Given the description of an element on the screen output the (x, y) to click on. 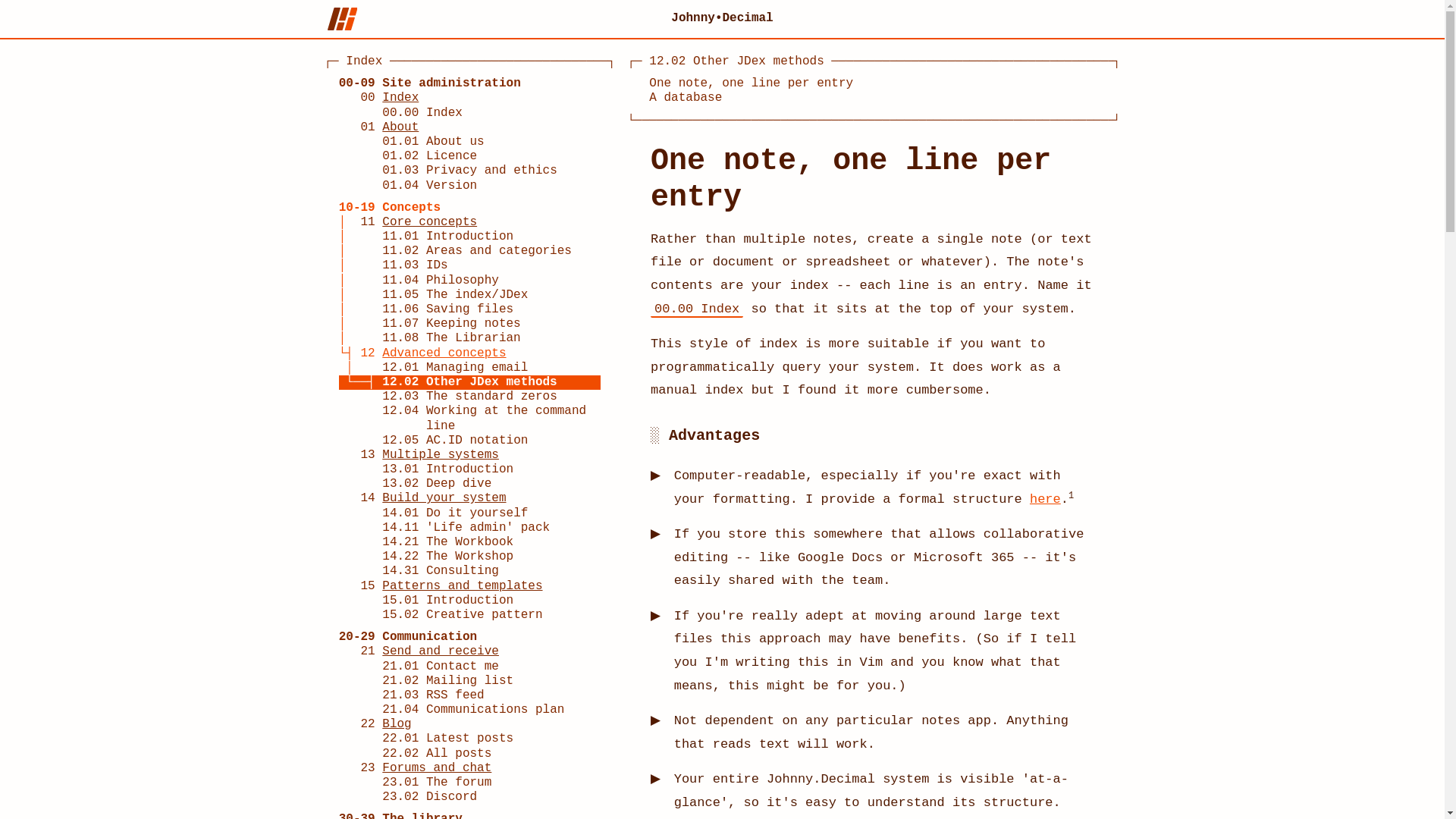
1 (1070, 495)
A database (685, 97)
here (470, 142)
One note, one line per entry (470, 170)
